Given the description of an element on the screen output the (x, y) to click on. 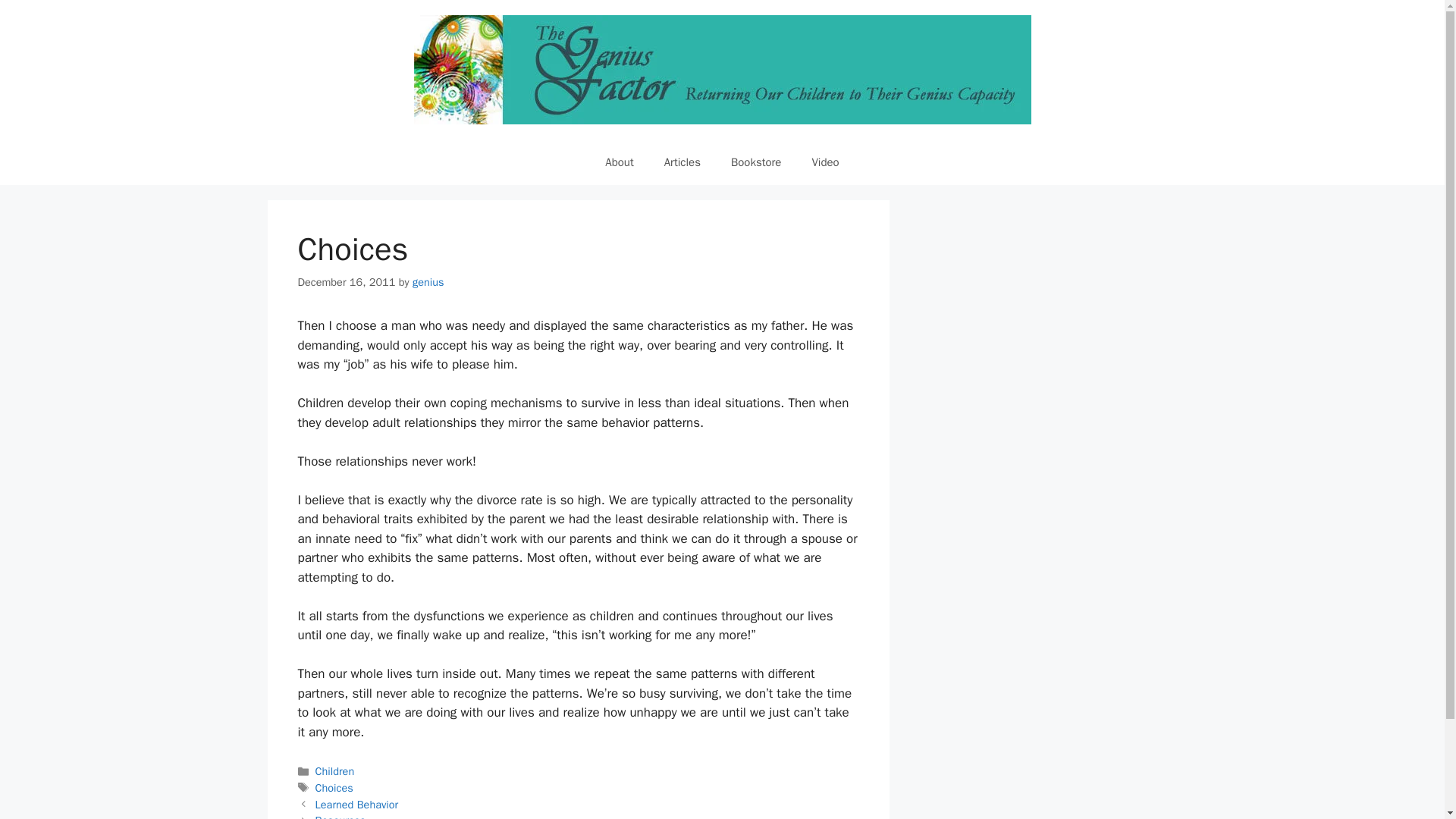
Bookstore (756, 162)
Learned Behavior (356, 804)
Resources (340, 816)
Children (335, 771)
Video (824, 162)
Articles (682, 162)
About (618, 162)
genius (428, 282)
View all posts by genius (428, 282)
Choices (334, 787)
